Given the description of an element on the screen output the (x, y) to click on. 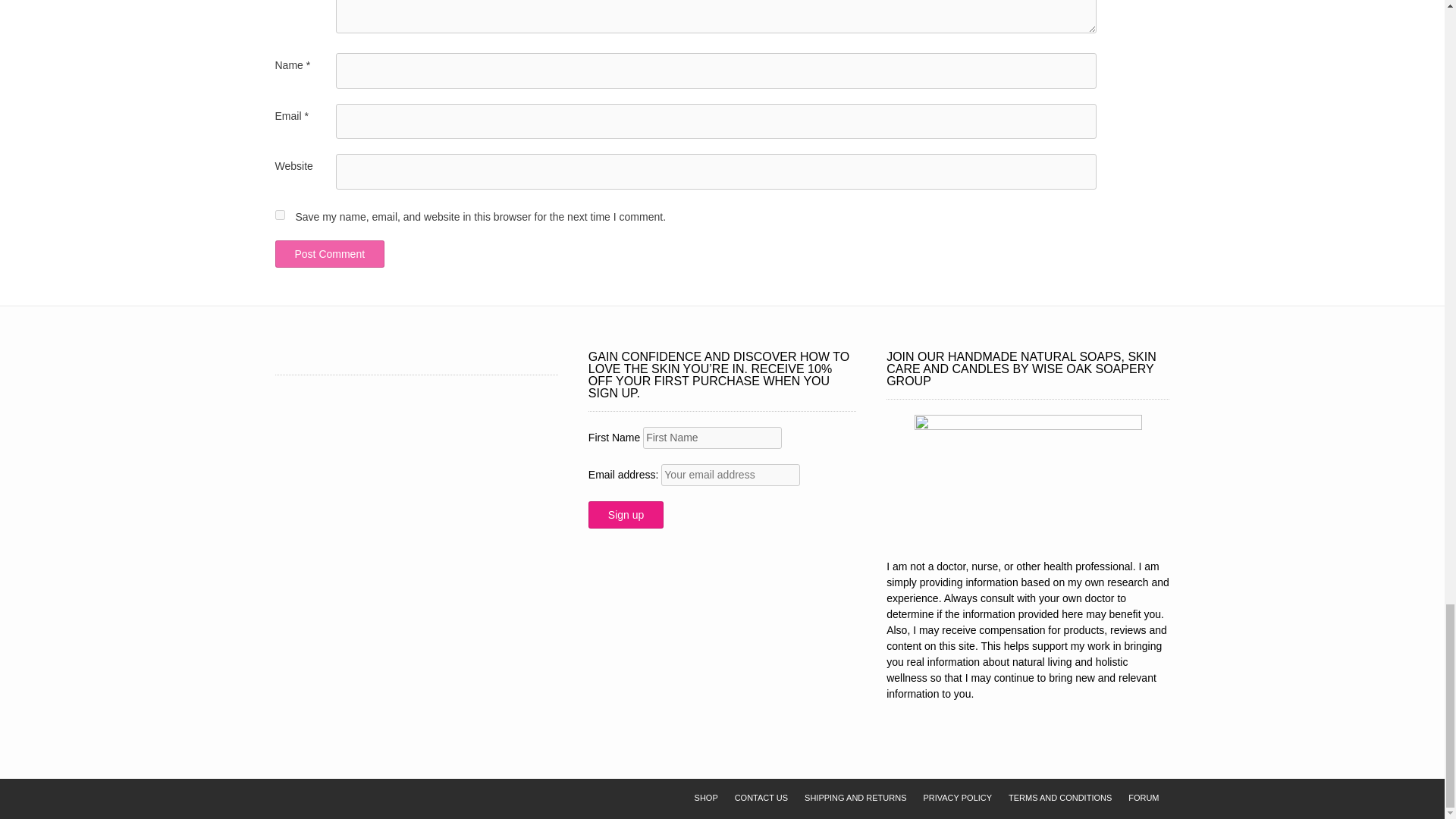
CONTACT US (761, 797)
SHOP (705, 797)
yes (279, 214)
First Name (712, 437)
SHIPPING AND RETURNS (855, 797)
Sign up (625, 514)
Sign up (625, 514)
Post Comment (329, 253)
Post Comment (329, 253)
